Given the description of an element on the screen output the (x, y) to click on. 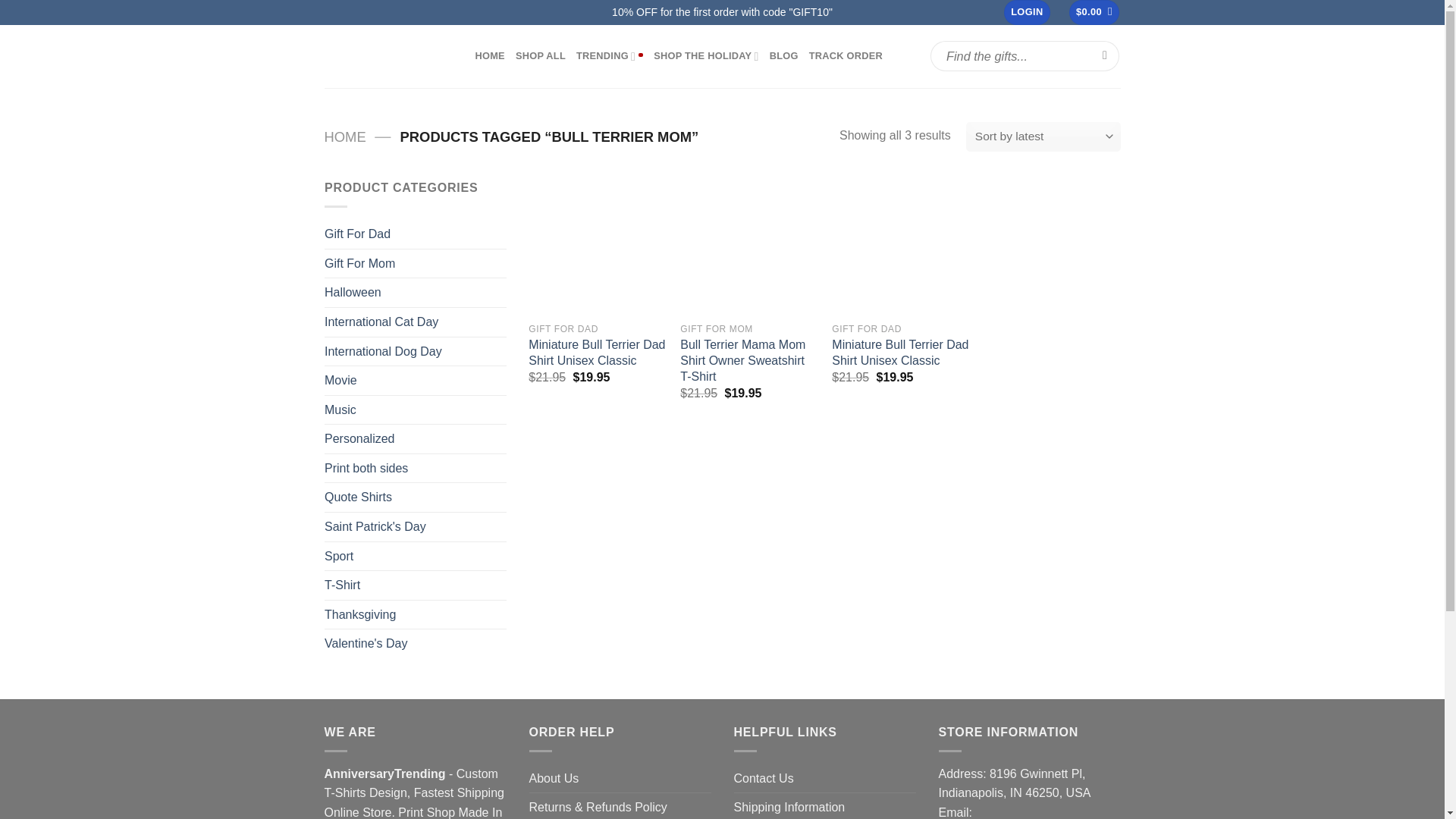
Valentine's Day (415, 643)
Movie (415, 380)
AnniversaryTrending (388, 56)
LOGIN (1026, 12)
Quote Shirts (415, 497)
Cart (1093, 12)
TRACK ORDER (845, 55)
International Cat Day (415, 321)
BLOG (783, 55)
Search (1105, 55)
